Given the description of an element on the screen output the (x, y) to click on. 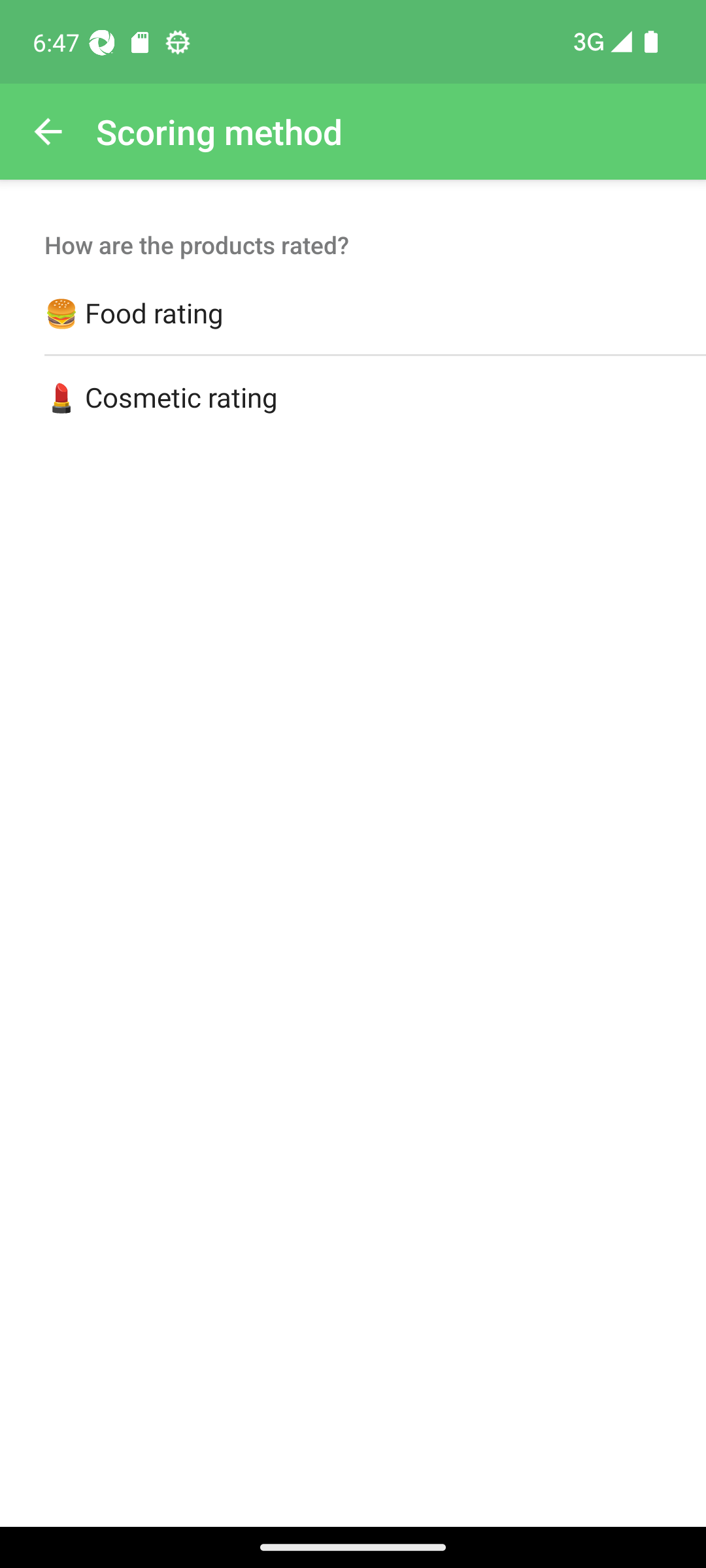
🍔 Food rating (353, 313)
💄 Cosmetic rating (353, 397)
